Given the description of an element on the screen output the (x, y) to click on. 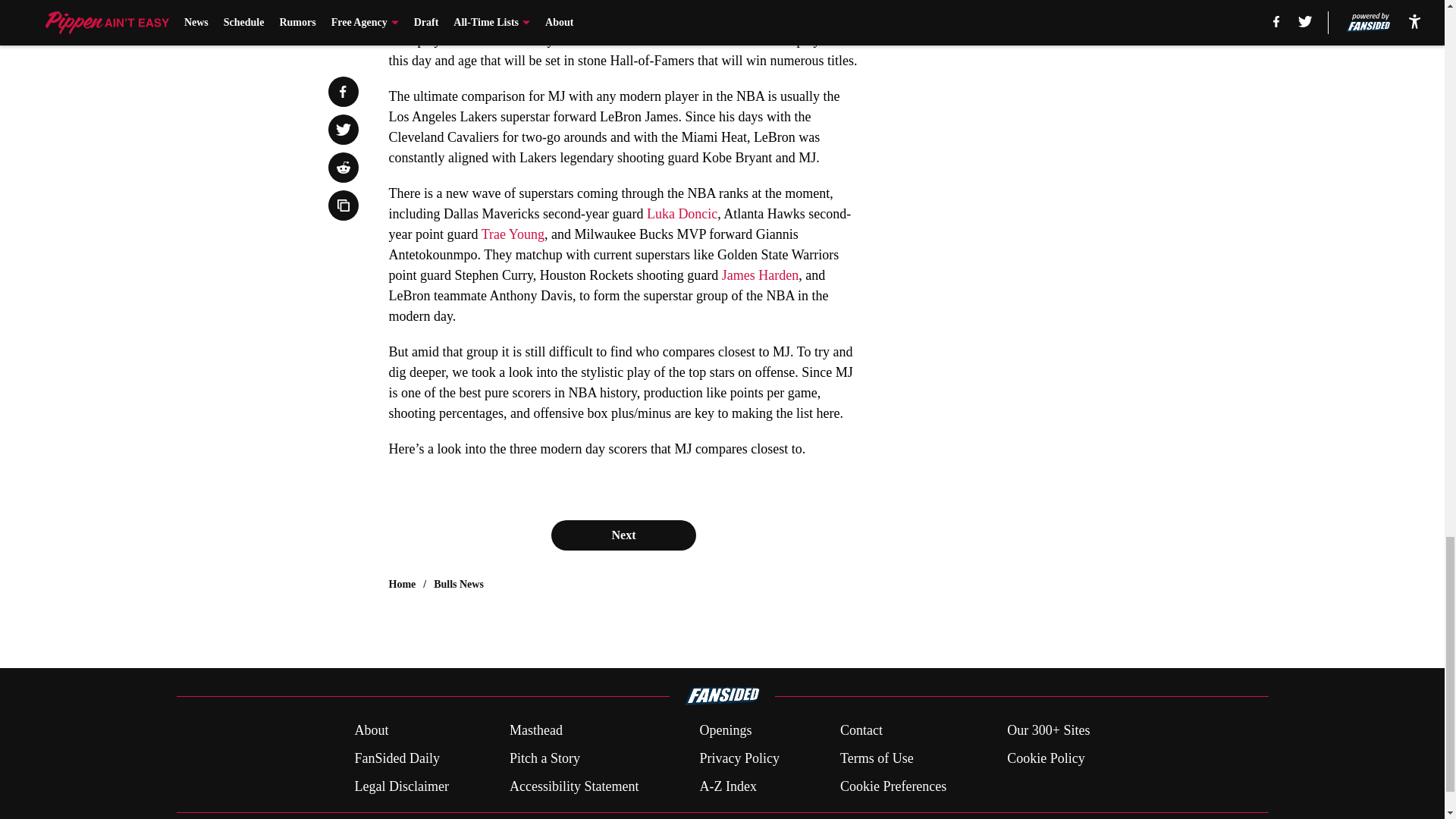
Masthead (535, 730)
Next (622, 535)
James Harden (759, 274)
Trae Young (512, 233)
Bulls News (458, 584)
Luka Doncic (681, 213)
About (370, 730)
Home (401, 584)
